Given the description of an element on the screen output the (x, y) to click on. 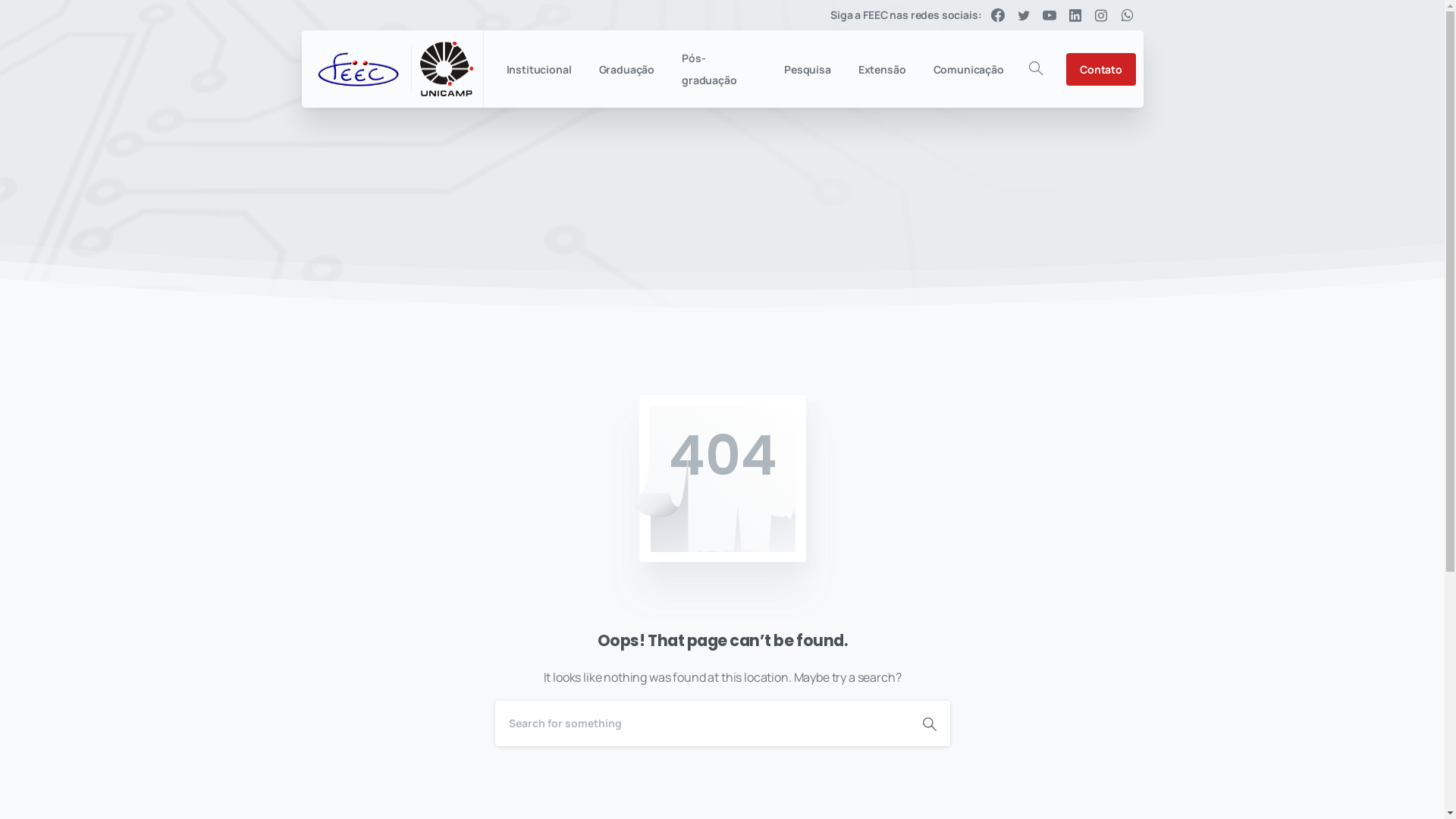
Todos os Departamentos Element type: text (528, 519)
Institucional FEEC Element type: text (730, 716)
Materiais Element type: text (703, 685)
Alumni Element type: text (694, 748)
linkedin Element type: hover (1075, 14)
twitter Element type: hover (1023, 14)
youtube Element type: hover (1049, 14)
Entre em Contato Element type: text (731, 622)
Pesquisa Element type: text (807, 69)
Como chegar Element type: text (718, 779)
Shape Element type: text (928, 723)
instagram Element type: hover (1100, 14)
WhatsApp Element type: hover (1126, 14)
Contato Element type: text (1100, 69)
Facebook Element type: hover (997, 14)
Institucional Element type: text (538, 69)
